Given the description of an element on the screen output the (x, y) to click on. 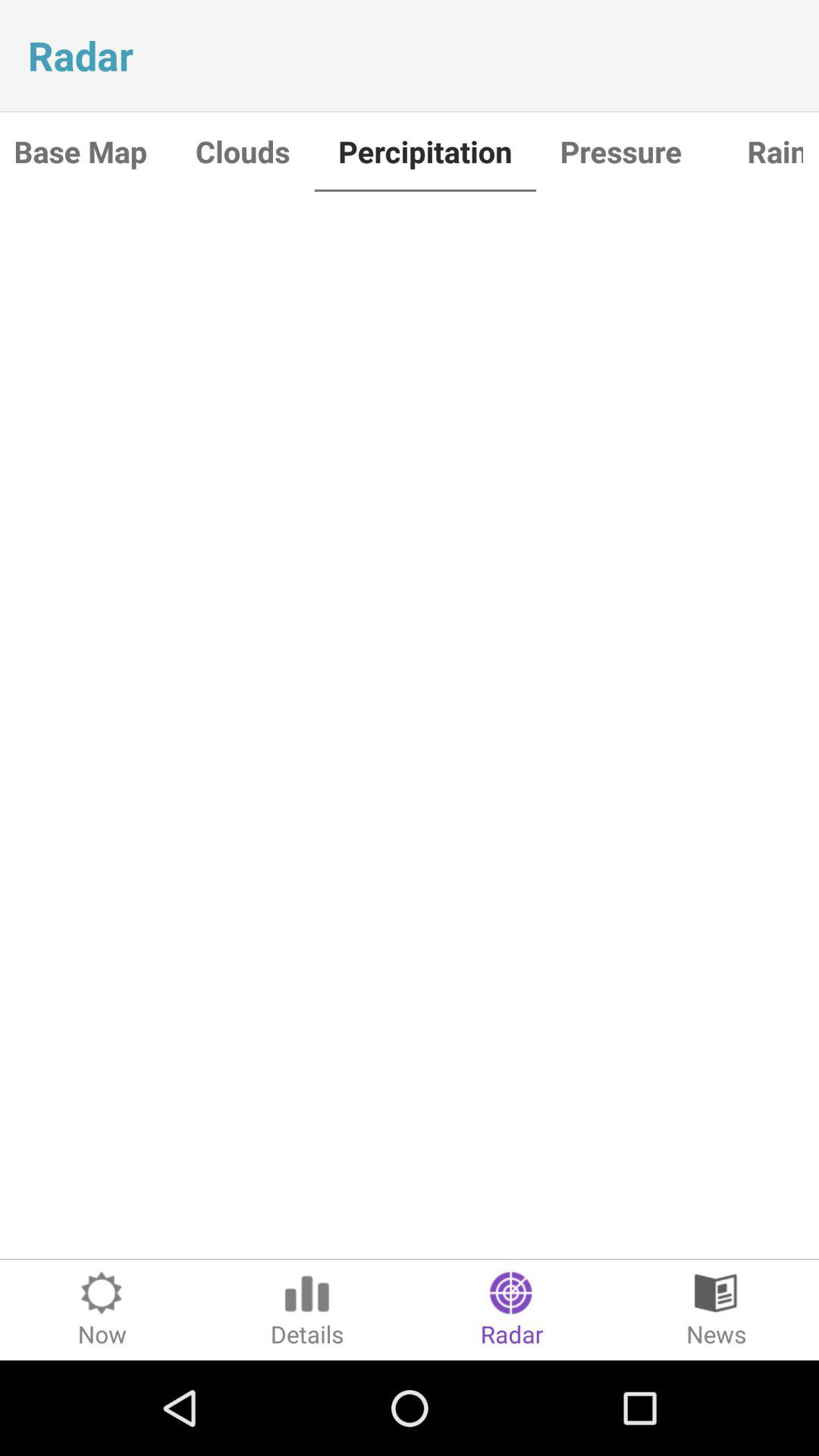
turn on icon next to now item (306, 1310)
